Given the description of an element on the screen output the (x, y) to click on. 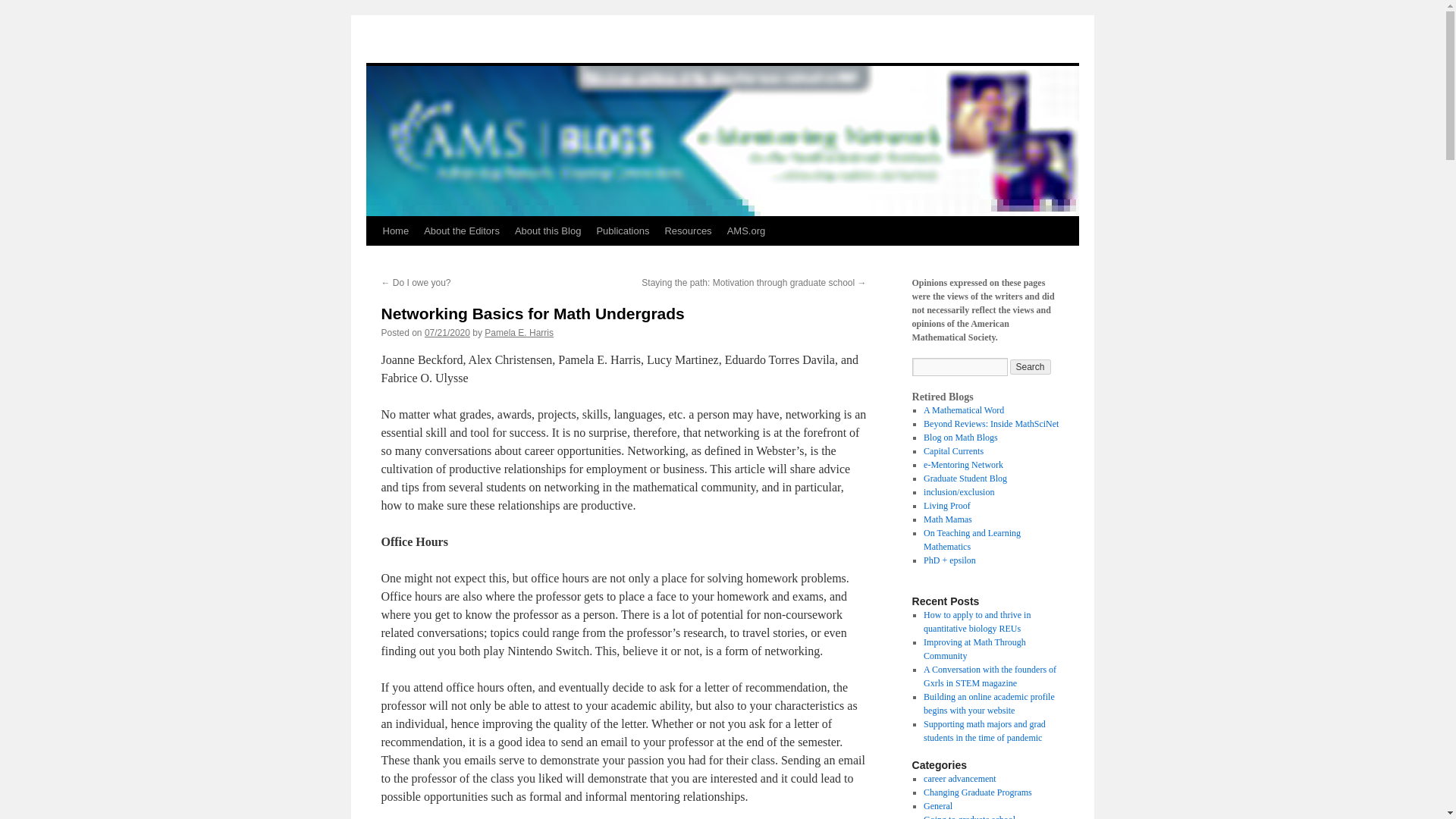
e-Mentoring Network (963, 464)
Capital Currents (953, 450)
About this Blog (547, 231)
View all posts by Pamela E. Harris (518, 332)
Publications (622, 231)
Living Proof (947, 505)
2:51 pm (447, 332)
Graduate Student Blog (965, 478)
About the Editors (461, 231)
Home (395, 231)
